Given the description of an element on the screen output the (x, y) to click on. 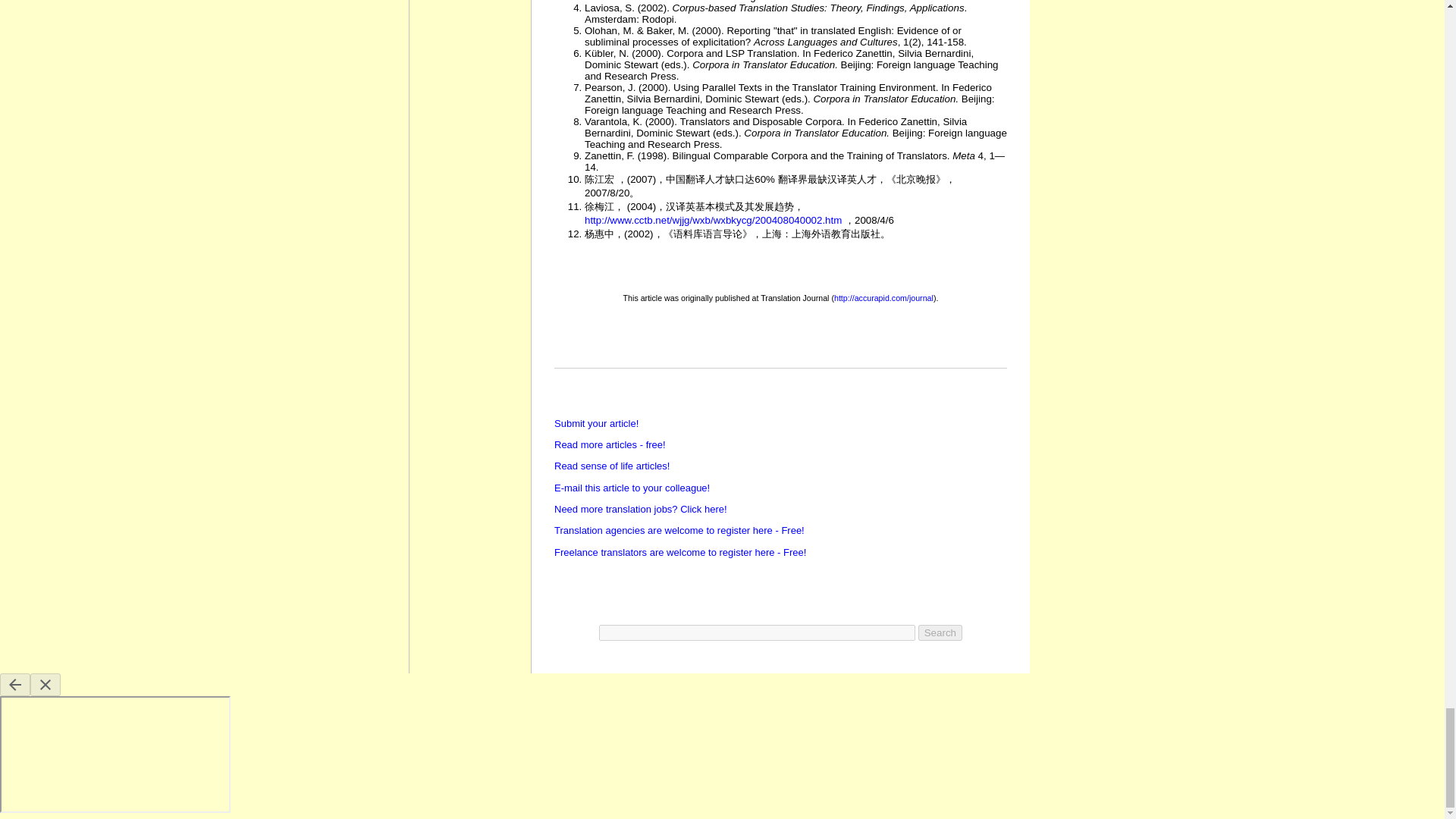
Read more articles - free! (609, 444)
E-mail this article to your colleague! (632, 487)
Search (940, 632)
Need more translation jobs? Click here! (640, 509)
Translation agencies are welcome to register here - Free! (679, 530)
Submit your article! (596, 423)
Search (940, 632)
Read sense of life articles! (611, 465)
Freelance translators are welcome to register here - Free! (680, 552)
